Given the description of an element on the screen output the (x, y) to click on. 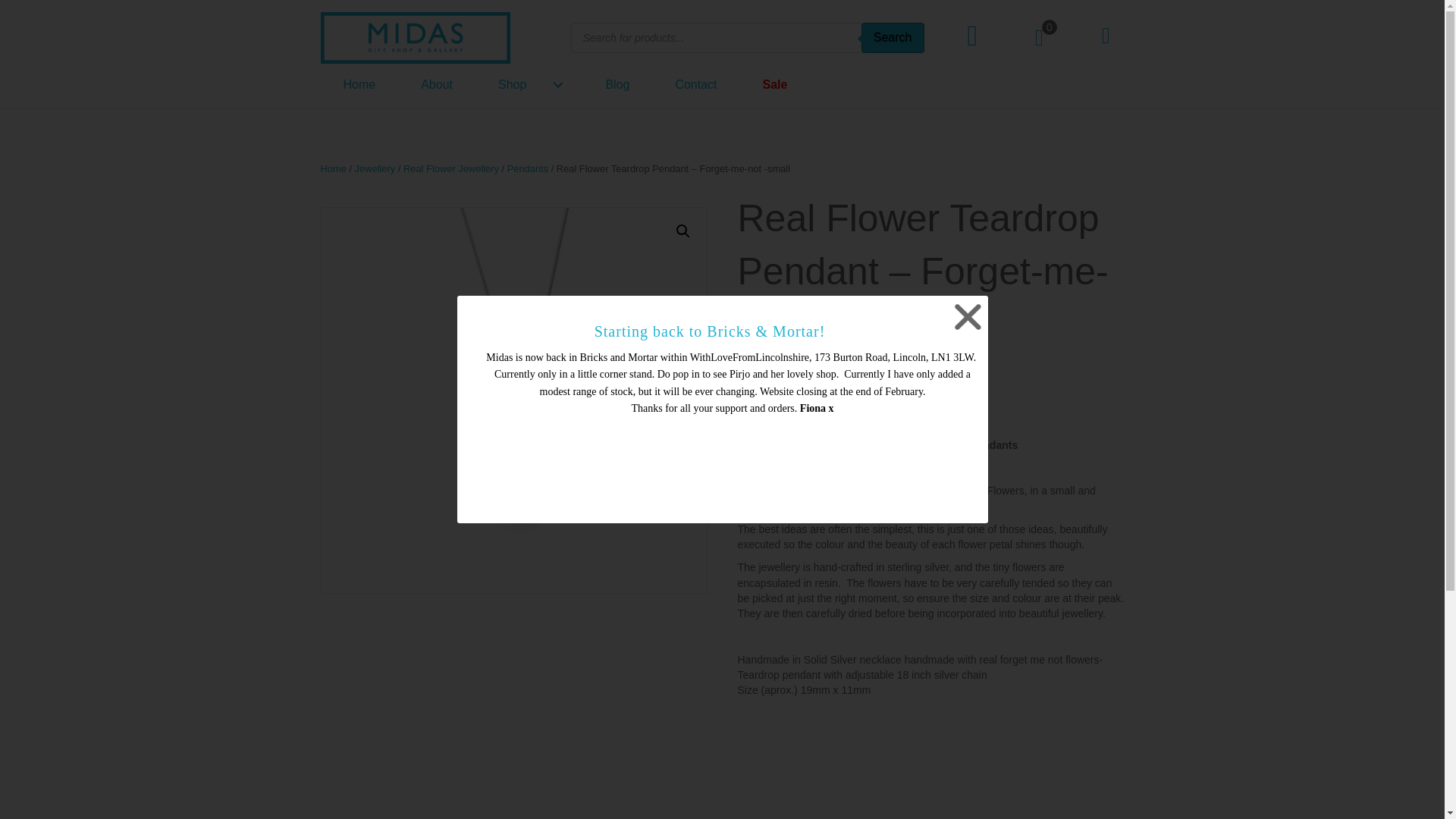
Sale (774, 83)
Home (358, 83)
Blog (617, 83)
Search (892, 37)
About (436, 83)
Contact (695, 83)
Shop (529, 83)
midas-blue (414, 38)
